Given the description of an element on the screen output the (x, y) to click on. 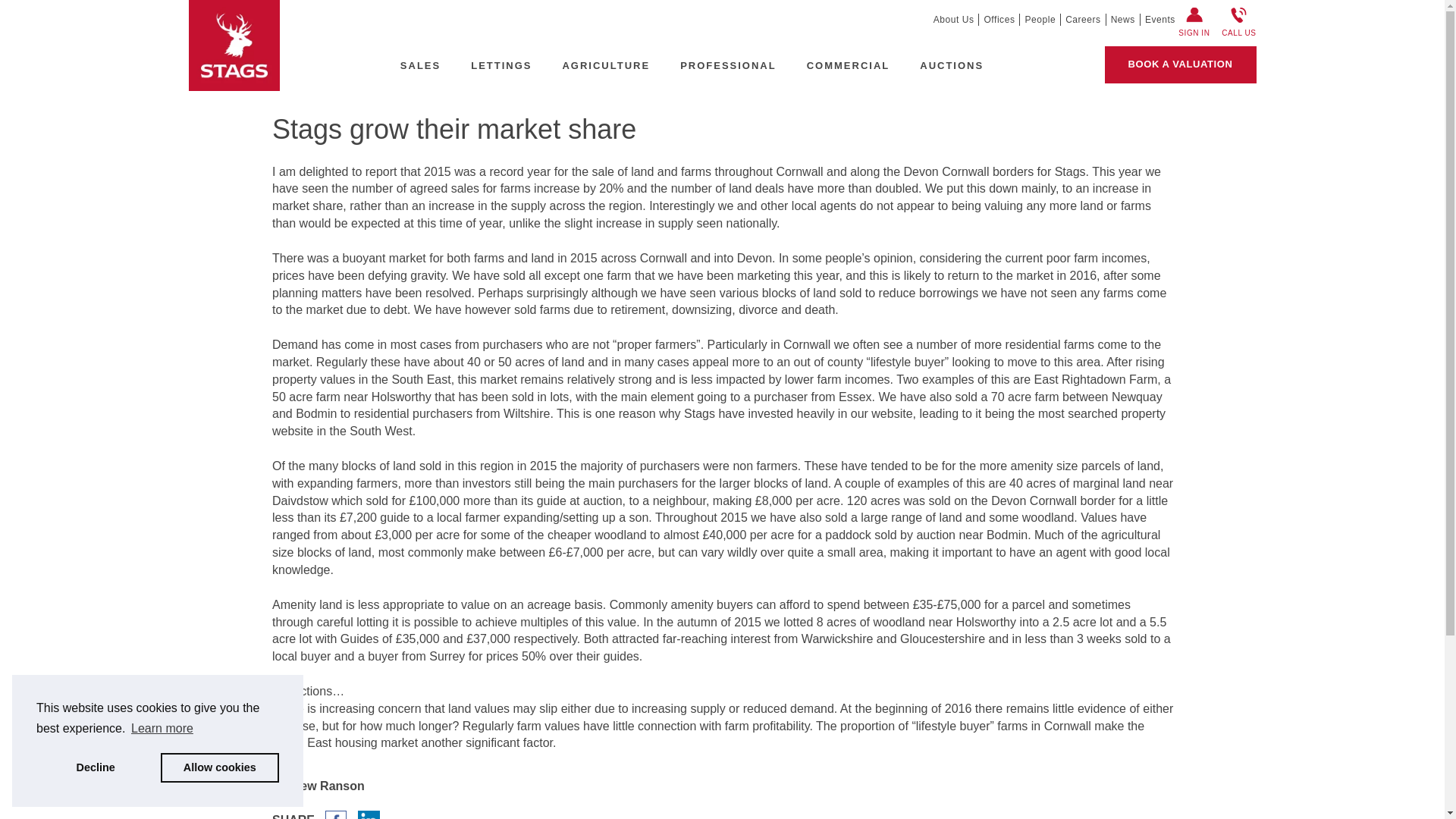
LETTINGS (500, 65)
Allow cookies (219, 767)
Learn more (162, 728)
Home Page (233, 43)
Share on LinkedIn (369, 816)
PROFESSIONAL (727, 65)
Decline (95, 767)
Share on Facebook (335, 816)
SALES (420, 65)
AGRICULTURE (605, 65)
